Given the description of an element on the screen output the (x, y) to click on. 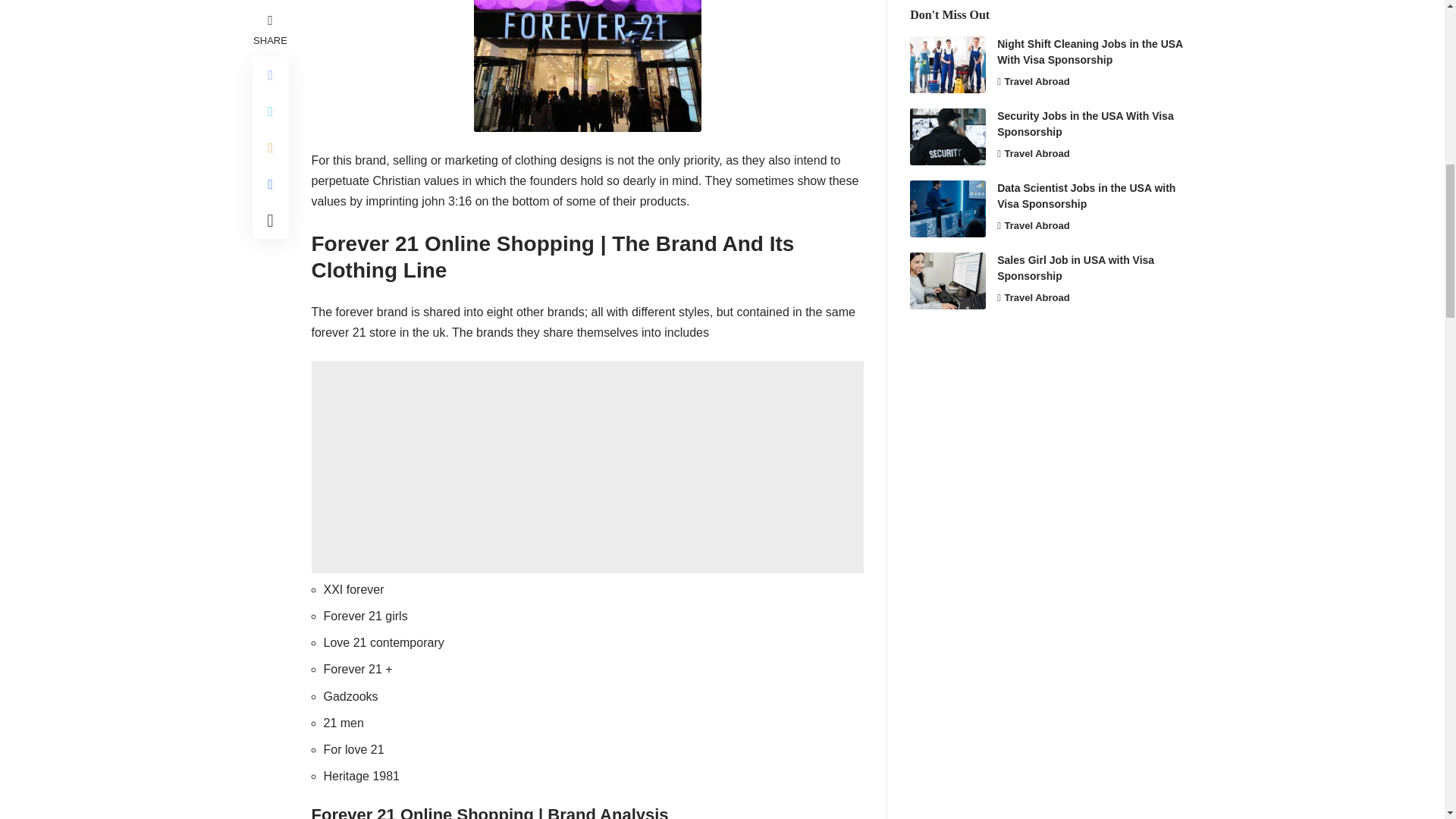
Advertisement (587, 467)
